Given the description of an element on the screen output the (x, y) to click on. 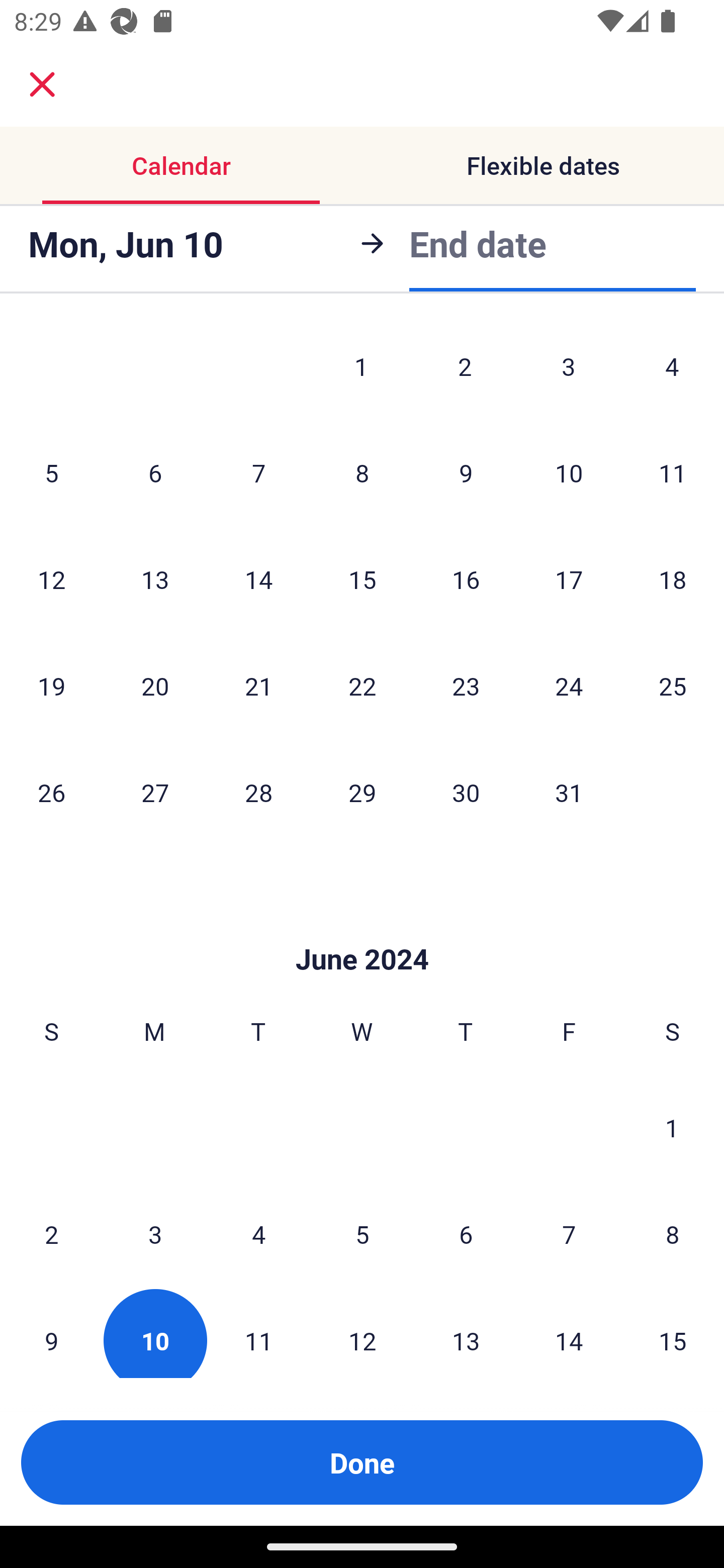
close. (42, 84)
Flexible dates (542, 164)
End date (477, 243)
1 Wednesday, May 1, 2024 (361, 369)
2 Thursday, May 2, 2024 (464, 369)
3 Friday, May 3, 2024 (568, 369)
4 Saturday, May 4, 2024 (672, 369)
5 Sunday, May 5, 2024 (51, 472)
6 Monday, May 6, 2024 (155, 472)
7 Tuesday, May 7, 2024 (258, 472)
8 Wednesday, May 8, 2024 (362, 472)
9 Thursday, May 9, 2024 (465, 472)
10 Friday, May 10, 2024 (569, 472)
11 Saturday, May 11, 2024 (672, 472)
12 Sunday, May 12, 2024 (51, 579)
13 Monday, May 13, 2024 (155, 579)
14 Tuesday, May 14, 2024 (258, 579)
15 Wednesday, May 15, 2024 (362, 579)
16 Thursday, May 16, 2024 (465, 579)
17 Friday, May 17, 2024 (569, 579)
18 Saturday, May 18, 2024 (672, 579)
19 Sunday, May 19, 2024 (51, 684)
20 Monday, May 20, 2024 (155, 684)
21 Tuesday, May 21, 2024 (258, 684)
22 Wednesday, May 22, 2024 (362, 684)
23 Thursday, May 23, 2024 (465, 684)
24 Friday, May 24, 2024 (569, 684)
25 Saturday, May 25, 2024 (672, 684)
26 Sunday, May 26, 2024 (51, 791)
27 Monday, May 27, 2024 (155, 791)
28 Tuesday, May 28, 2024 (258, 791)
29 Wednesday, May 29, 2024 (362, 791)
30 Thursday, May 30, 2024 (465, 791)
31 Friday, May 31, 2024 (569, 791)
Skip to Done (362, 929)
1 Saturday, June 1, 2024 (672, 1127)
2 Sunday, June 2, 2024 (51, 1233)
3 Monday, June 3, 2024 (155, 1233)
4 Tuesday, June 4, 2024 (258, 1233)
5 Wednesday, June 5, 2024 (362, 1233)
6 Thursday, June 6, 2024 (465, 1233)
7 Friday, June 7, 2024 (569, 1233)
8 Saturday, June 8, 2024 (672, 1233)
9 Sunday, June 9, 2024 (51, 1333)
11 Tuesday, June 11, 2024 (258, 1333)
12 Wednesday, June 12, 2024 (362, 1333)
13 Thursday, June 13, 2024 (465, 1333)
14 Friday, June 14, 2024 (569, 1333)
15 Saturday, June 15, 2024 (672, 1333)
Done (361, 1462)
